Given the description of an element on the screen output the (x, y) to click on. 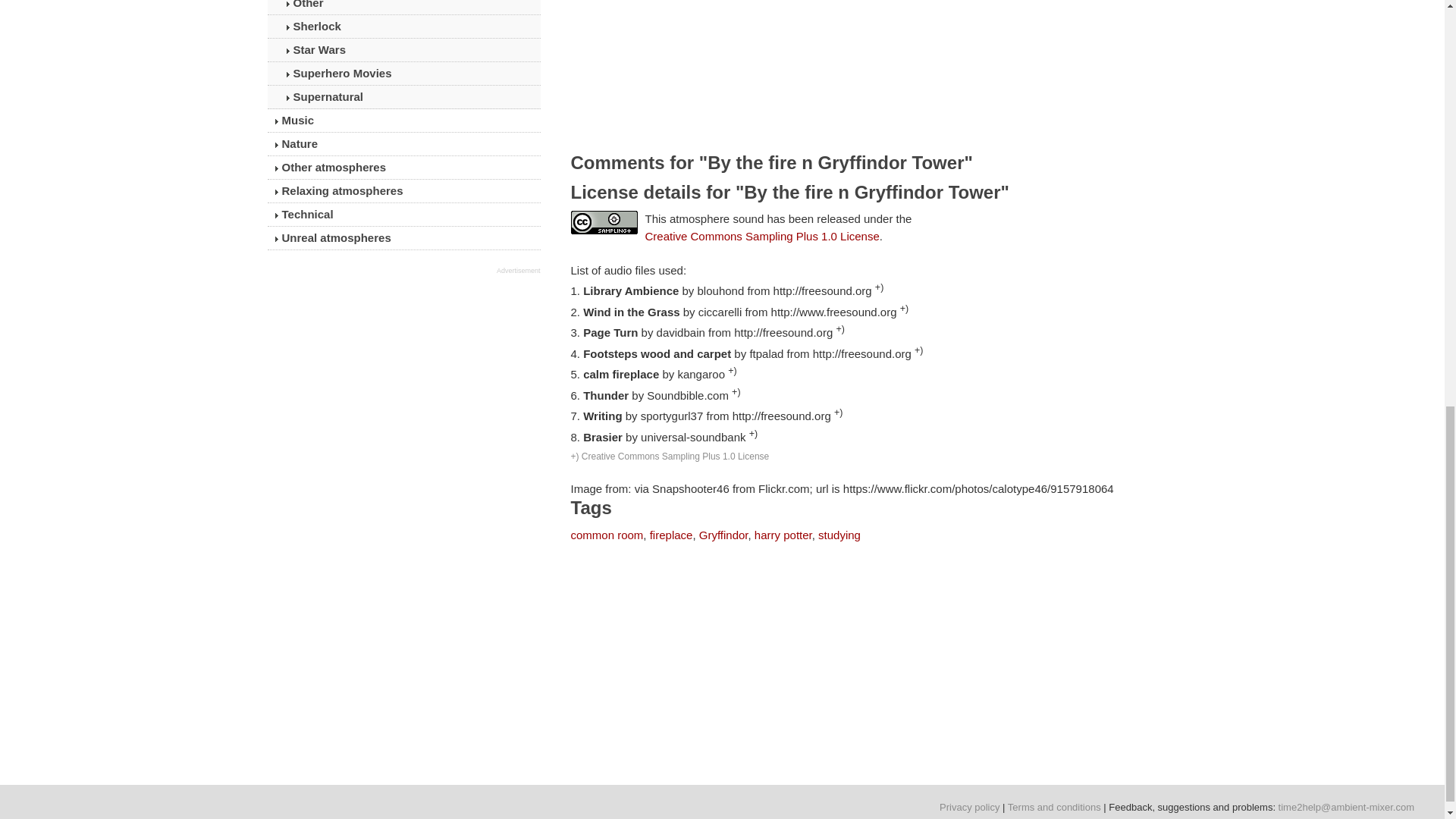
Technical (403, 214)
Nature (403, 143)
Other atmospheres (403, 167)
Sherlock (403, 26)
Supernatural (403, 96)
Other movie and series themed sounds (403, 7)
Superhero Movies (403, 73)
Star Wars themed sounds (403, 49)
Other (403, 7)
Sherlock themed sounds (403, 26)
Music (403, 119)
Supernatural themed sounds (403, 96)
Relaxing atmospheres (403, 190)
Marvel and DC comic inspired movie sounds (403, 73)
Star Wars (403, 49)
